Given the description of an element on the screen output the (x, y) to click on. 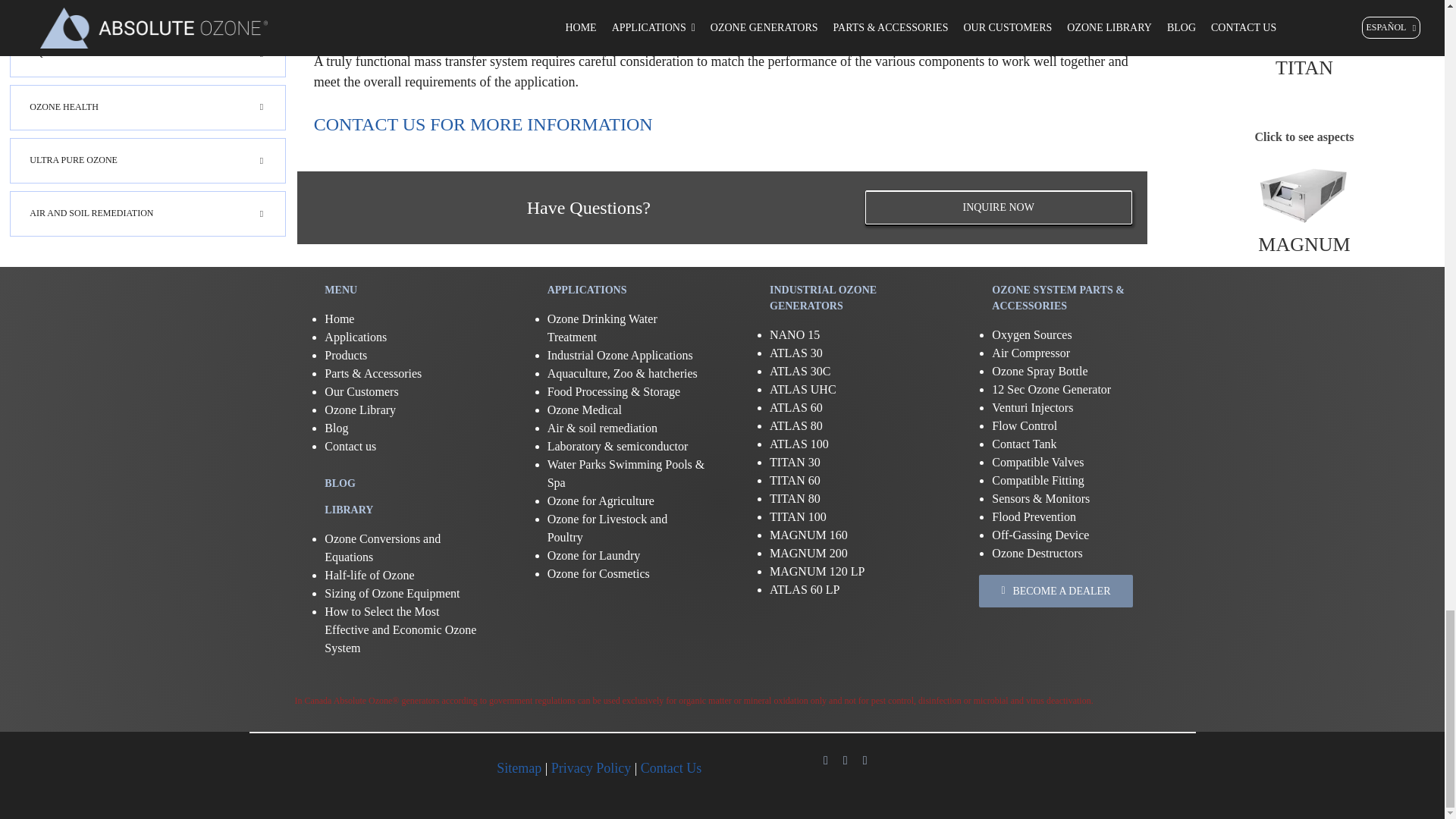
ao-icon (352, 768)
